Given the description of an element on the screen output the (x, y) to click on. 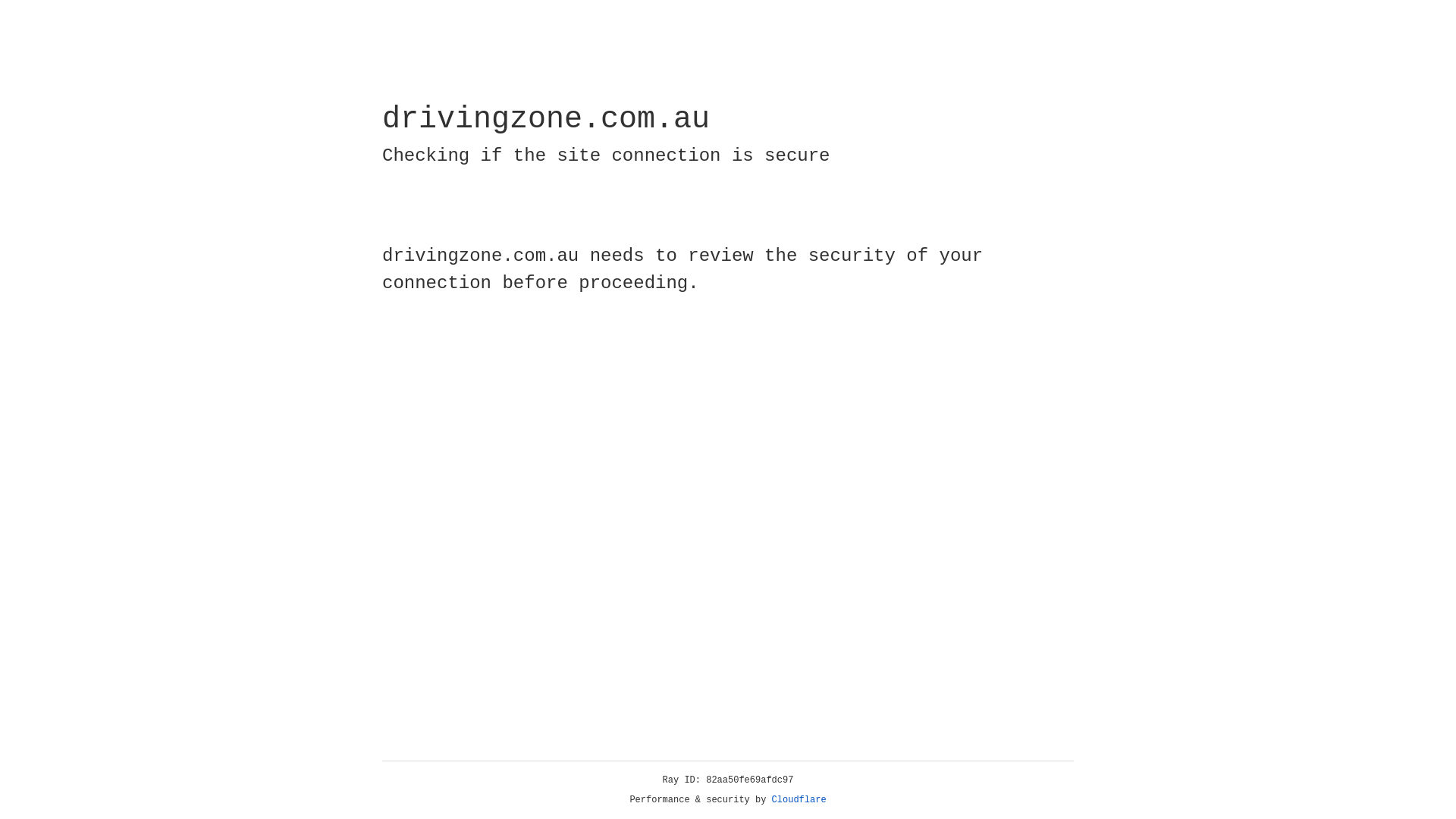
Cloudflare Element type: text (798, 799)
